Given the description of an element on the screen output the (x, y) to click on. 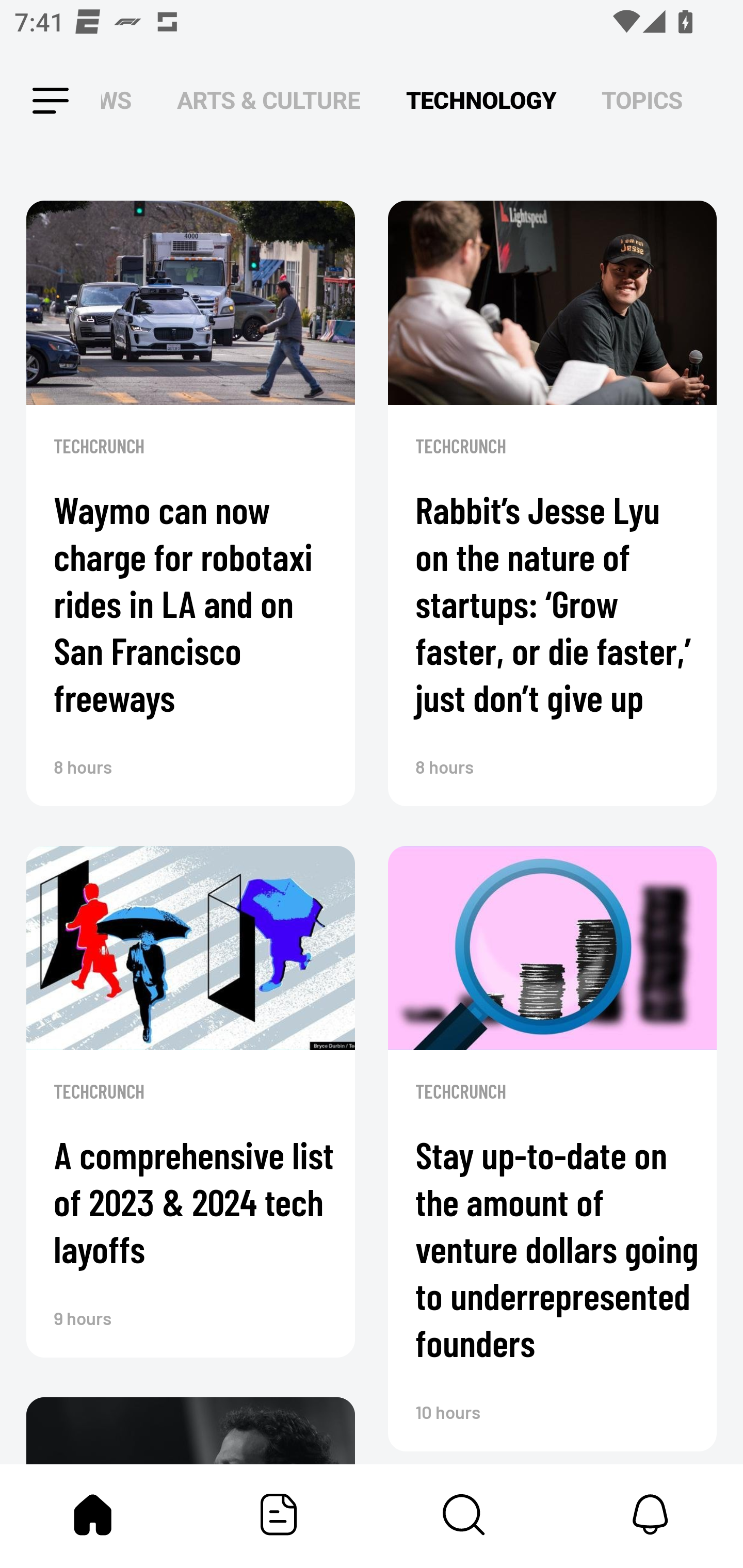
NEWS (121, 100)
ARTS & CULTURE (268, 100)
TOPICS (641, 100)
Featured (278, 1514)
Content Store (464, 1514)
Notifications (650, 1514)
